Given the description of an element on the screen output the (x, y) to click on. 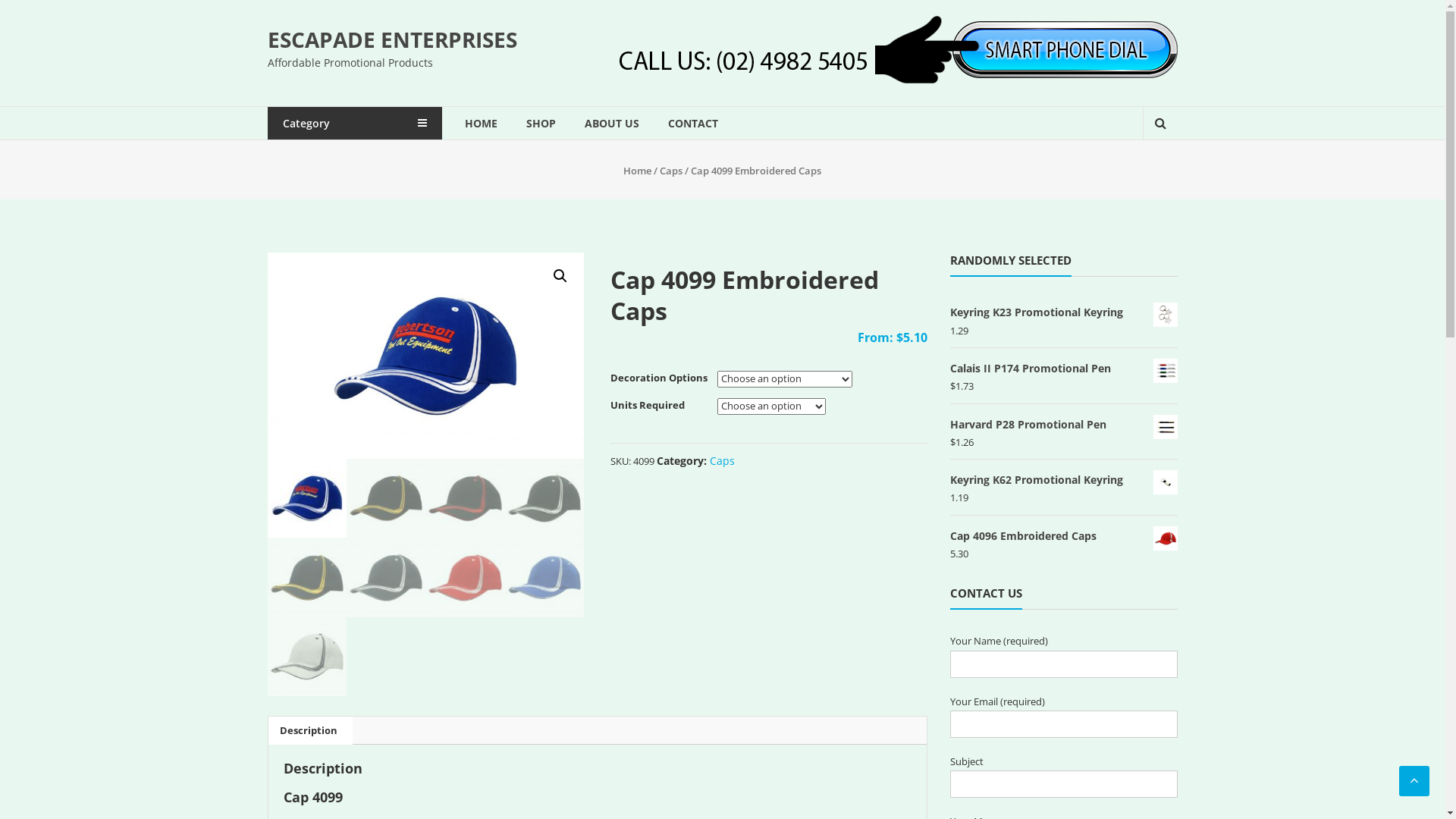
Caps Element type: text (670, 170)
Keyring K23 Promotional Keyring Element type: text (1062, 311)
Keyring K62 Promotional Keyring Element type: text (1062, 479)
Search Element type: text (1150, 174)
HOME Element type: text (480, 122)
ESCAPADE ENTERPRISES Element type: text (391, 39)
Harvard P28 Promotional Pen Element type: text (1062, 423)
Cap 4099 embroidered Element type: hover (424, 355)
Cap 4096 Embroidered Caps Element type: text (1062, 535)
SHOP Element type: text (540, 122)
Home Element type: text (637, 170)
Description Element type: text (307, 729)
Calais II P174 Promotional Pen Element type: text (1062, 367)
ABOUT US Element type: text (610, 122)
CONTACT Element type: text (692, 122)
Caps Element type: text (721, 460)
